Given the description of an element on the screen output the (x, y) to click on. 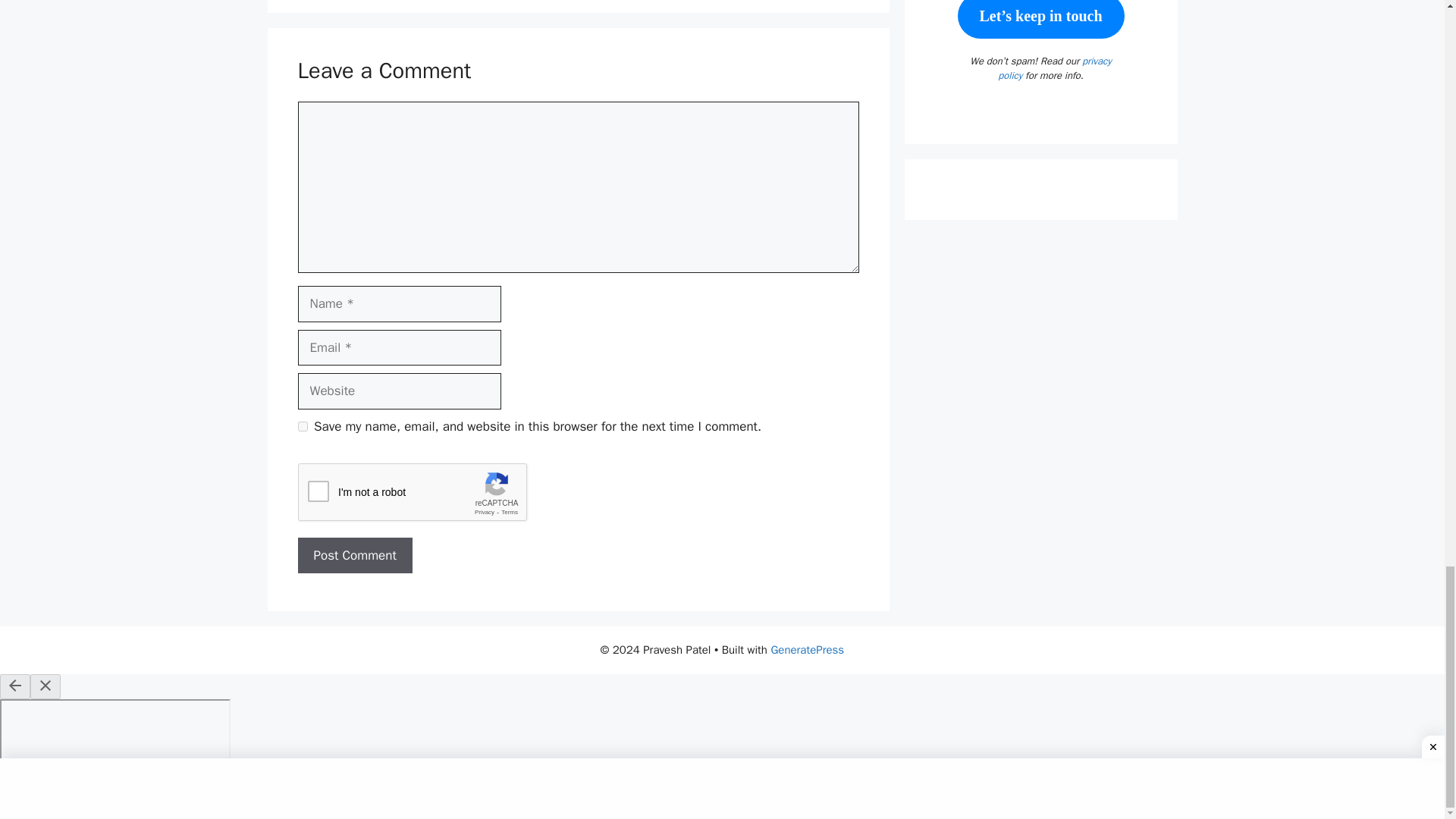
reCAPTCHA (412, 492)
GeneratePress (807, 649)
yes (302, 426)
Post Comment (354, 555)
Post Comment (354, 555)
privacy policy (1053, 67)
